Given the description of an element on the screen output the (x, y) to click on. 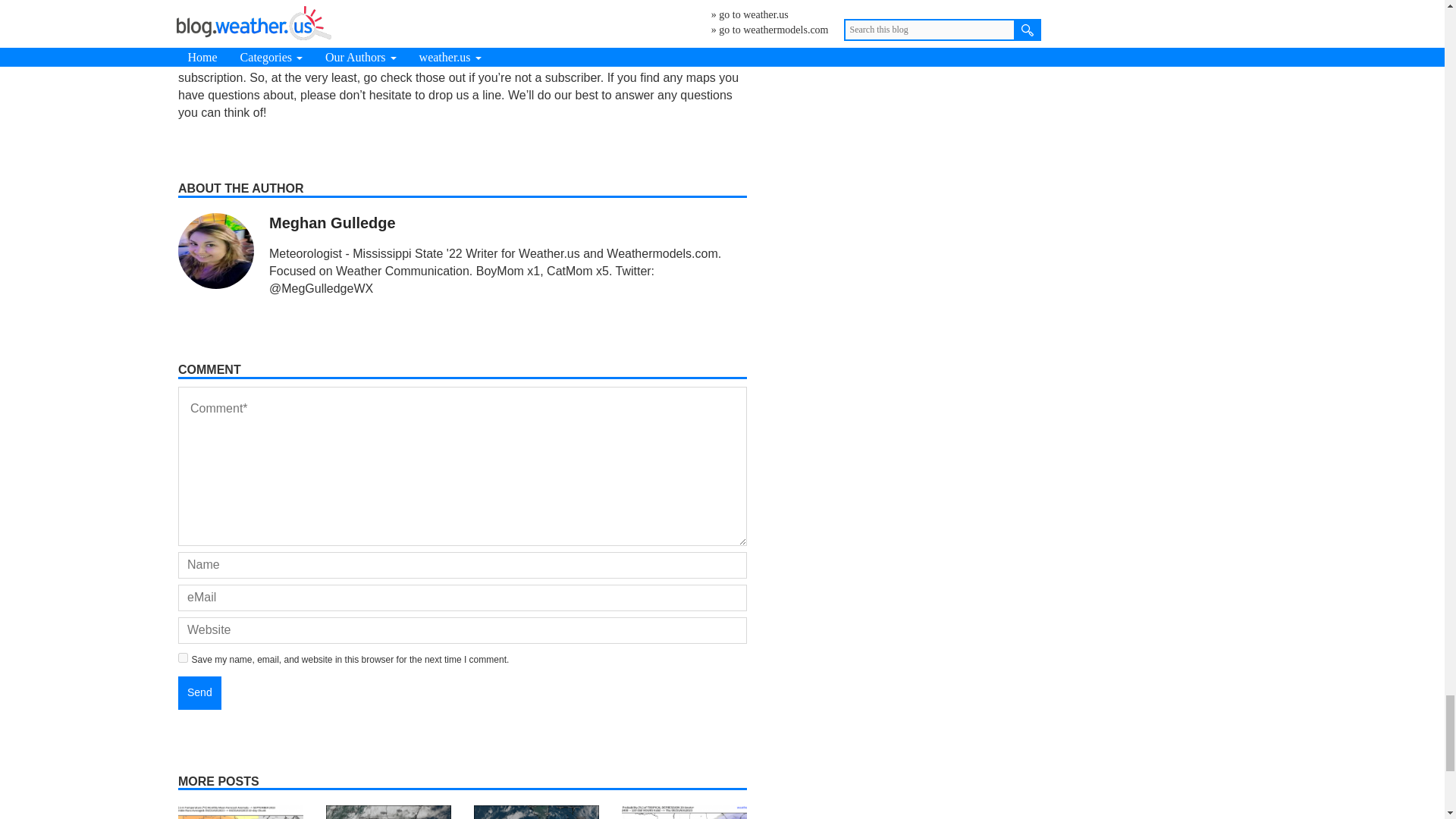
Expecting Idalia (388, 812)
yes (182, 657)
Send (199, 693)
Idalia To Become A Dangerous Major Hurricane In The Gulf (536, 812)
Tropical Mischief In The Gulf? (683, 812)
